Given the description of an element on the screen output the (x, y) to click on. 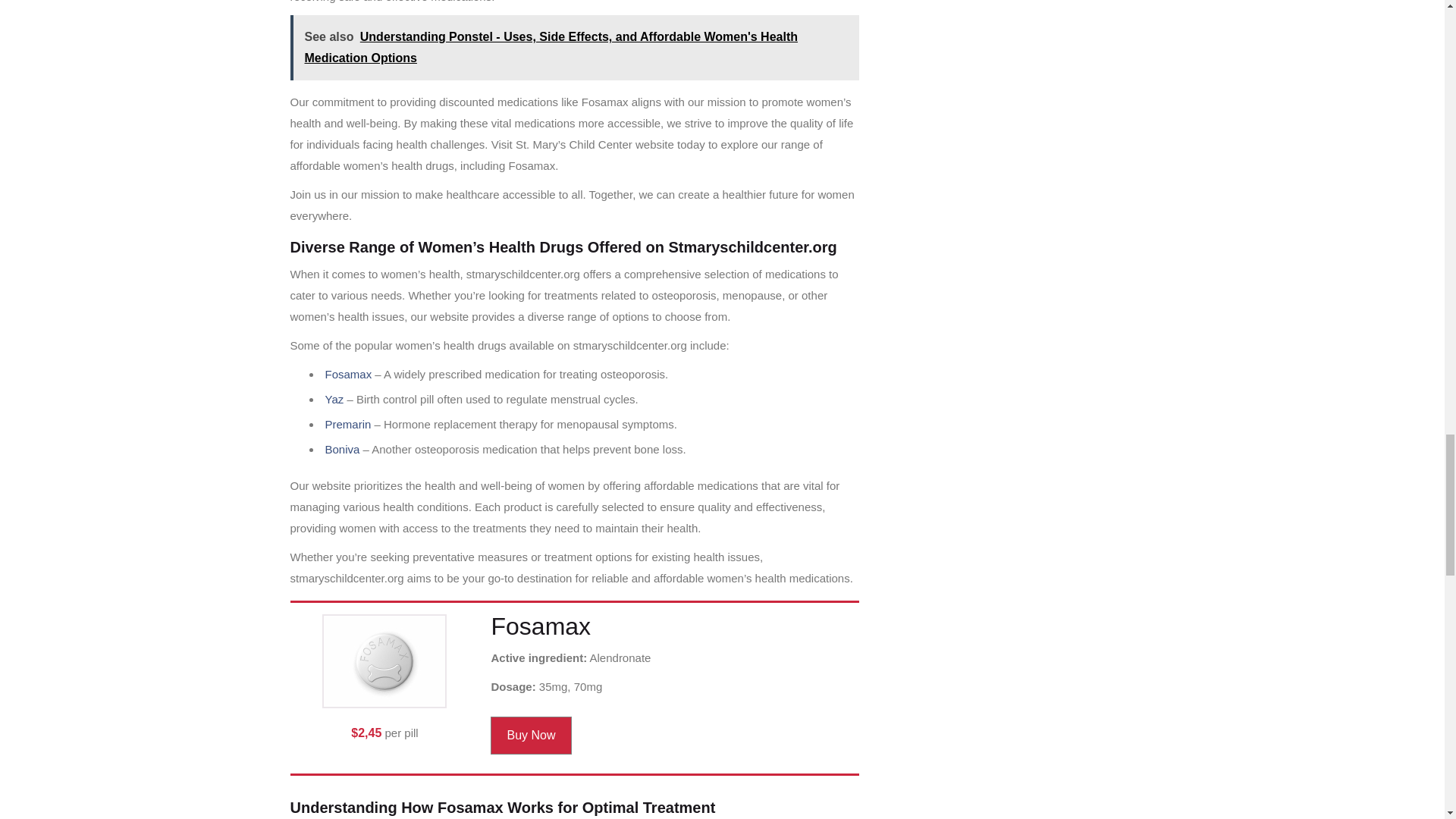
Yaz (333, 399)
Boniva (341, 449)
Premarin (347, 423)
Buy Now (530, 735)
Fosamax (347, 373)
